Given the description of an element on the screen output the (x, y) to click on. 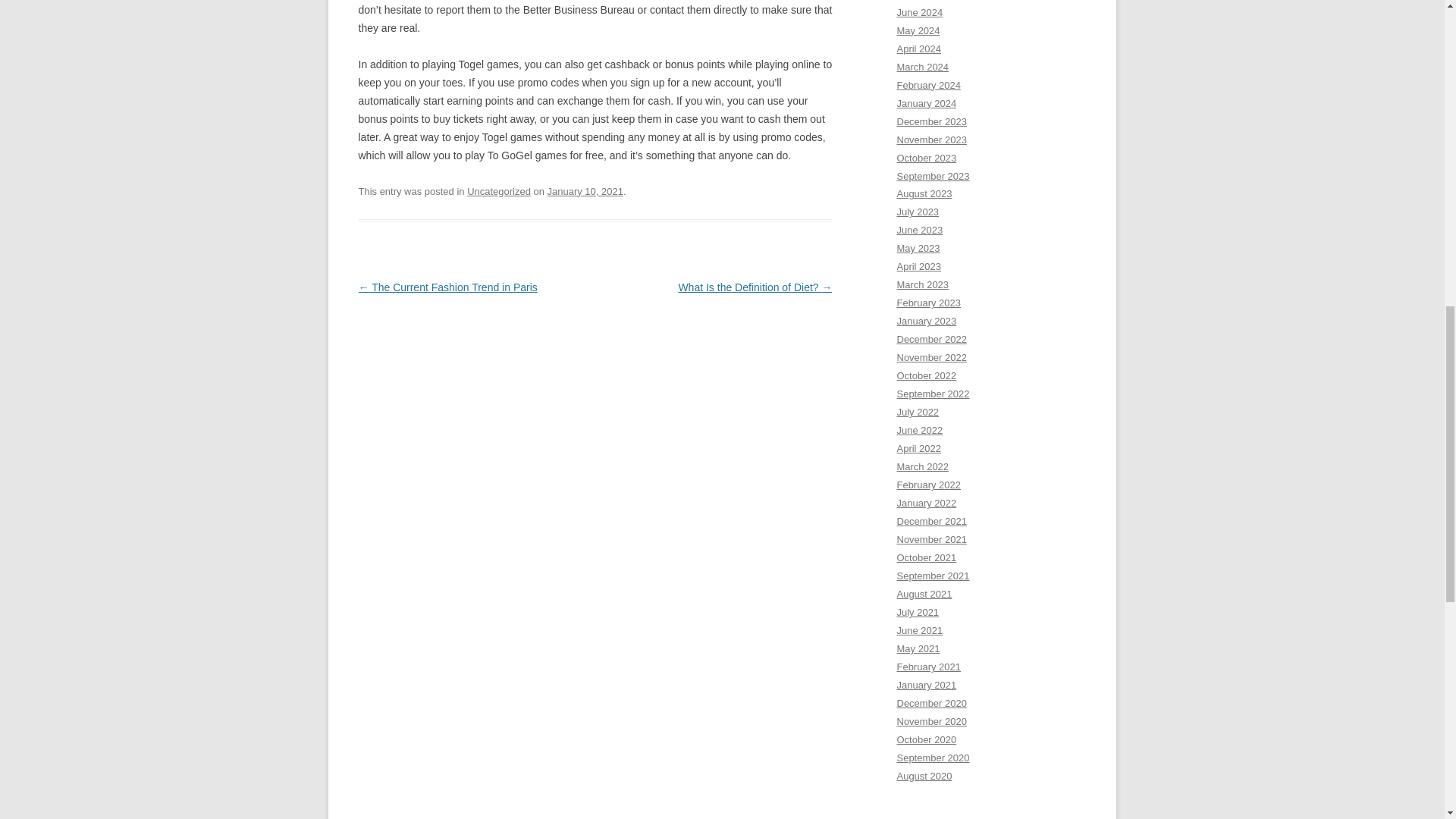
January 10, 2021 (585, 191)
October 2023 (926, 157)
March 2024 (922, 66)
September 2023 (932, 174)
May 2024 (917, 30)
April 2024 (918, 48)
Uncategorized (499, 191)
November 2023 (931, 139)
January 2024 (926, 102)
June 2024 (919, 12)
